Given the description of an element on the screen output the (x, y) to click on. 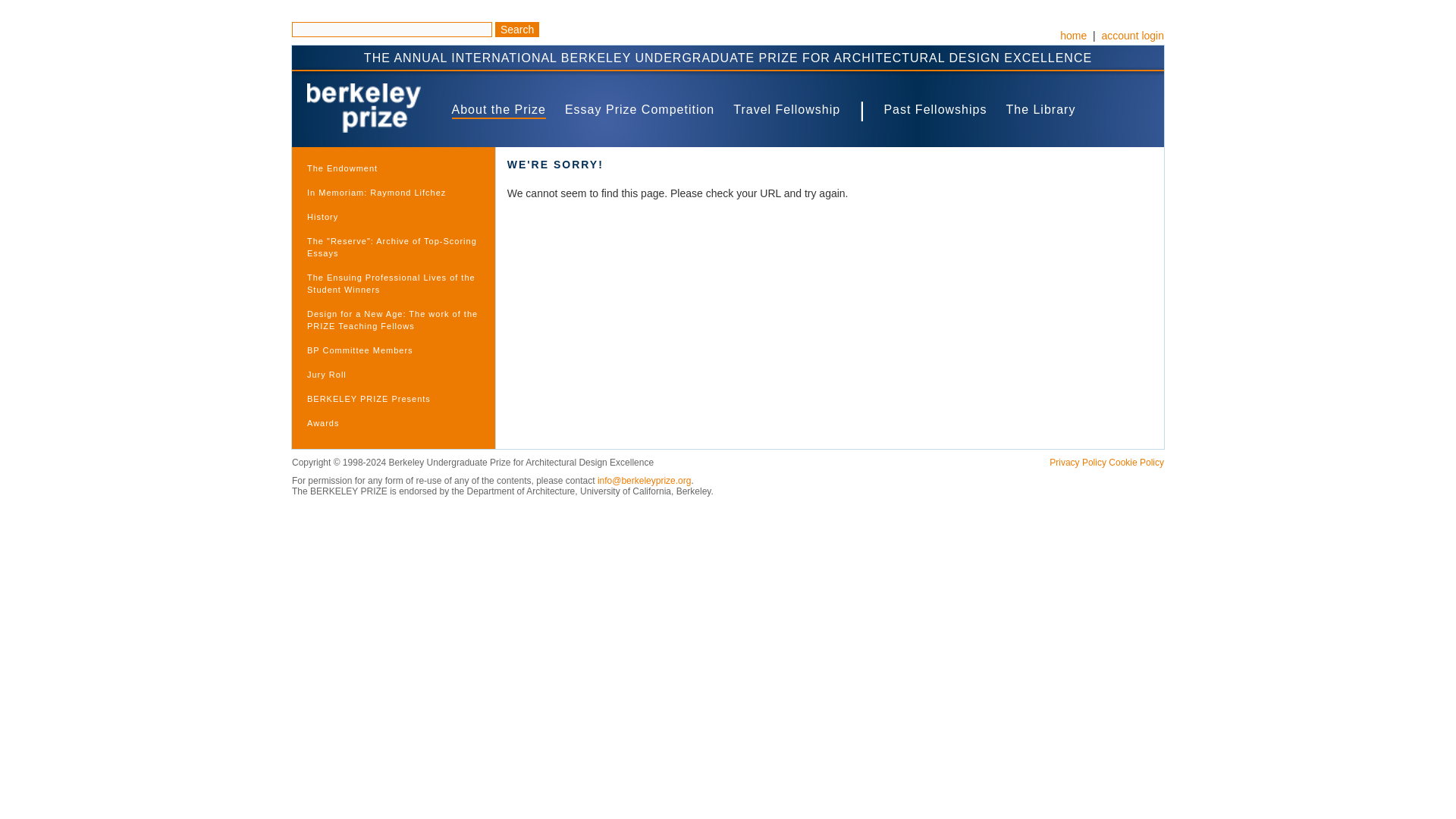
Search (516, 29)
Search (516, 29)
BERKELEY PRIZE Presents (393, 398)
Past Fellowships (935, 109)
About the Prize (498, 109)
The Library (1040, 109)
Design for a New Age: The work of the PRIZE Teaching Fellows (393, 319)
Cookie Policy (1135, 462)
The Ensuing Professional Lives of the Student Winners (393, 283)
In Memoriam: Raymond Lifchez (393, 192)
BP Committee Members (393, 350)
The Endowment (393, 168)
Berkeley Prize 2024 (363, 107)
account login (1131, 35)
home (1072, 35)
